Given the description of an element on the screen output the (x, y) to click on. 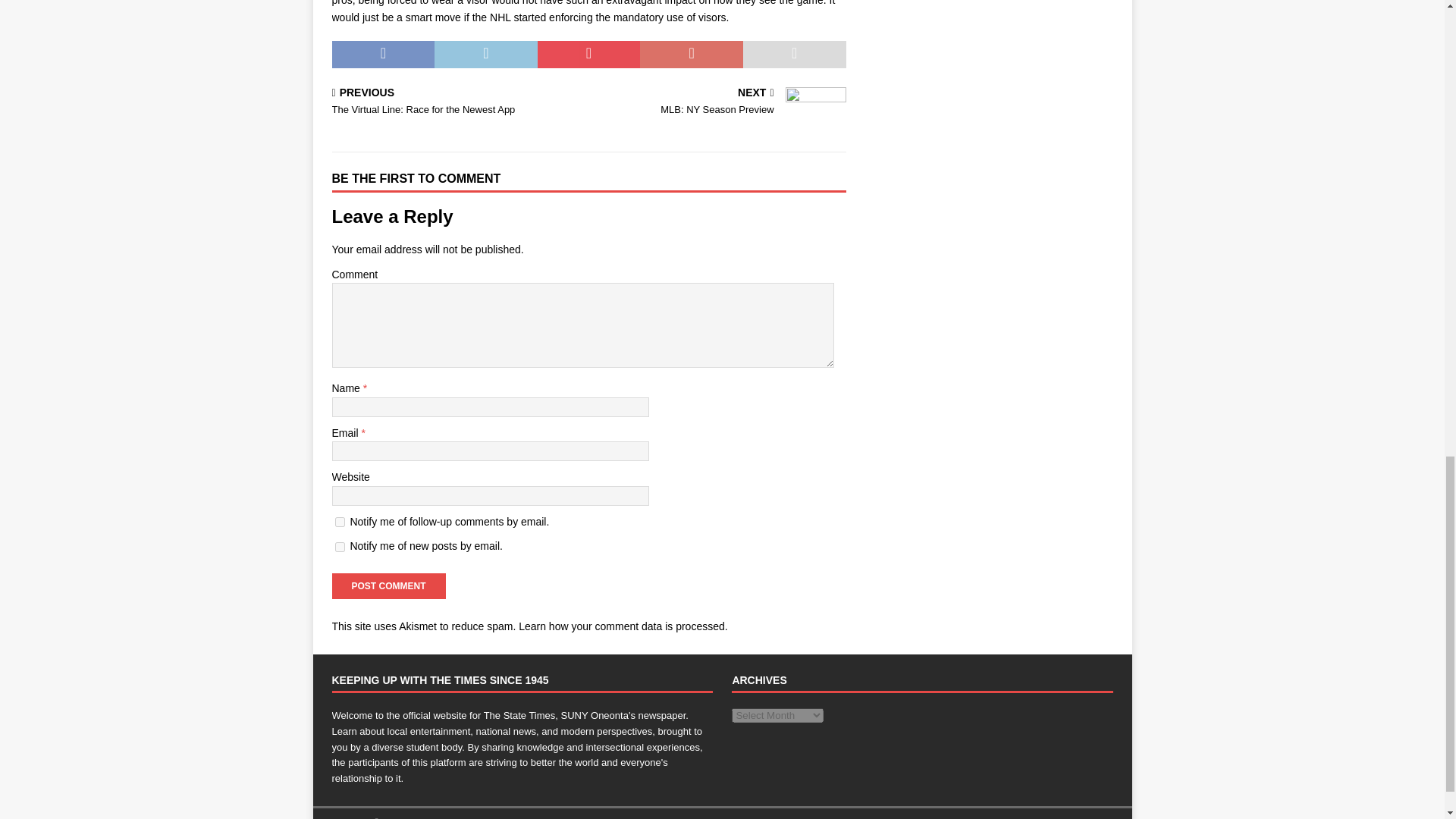
subscribe (339, 547)
Post Comment (388, 585)
subscribe (339, 521)
